Given the description of an element on the screen output the (x, y) to click on. 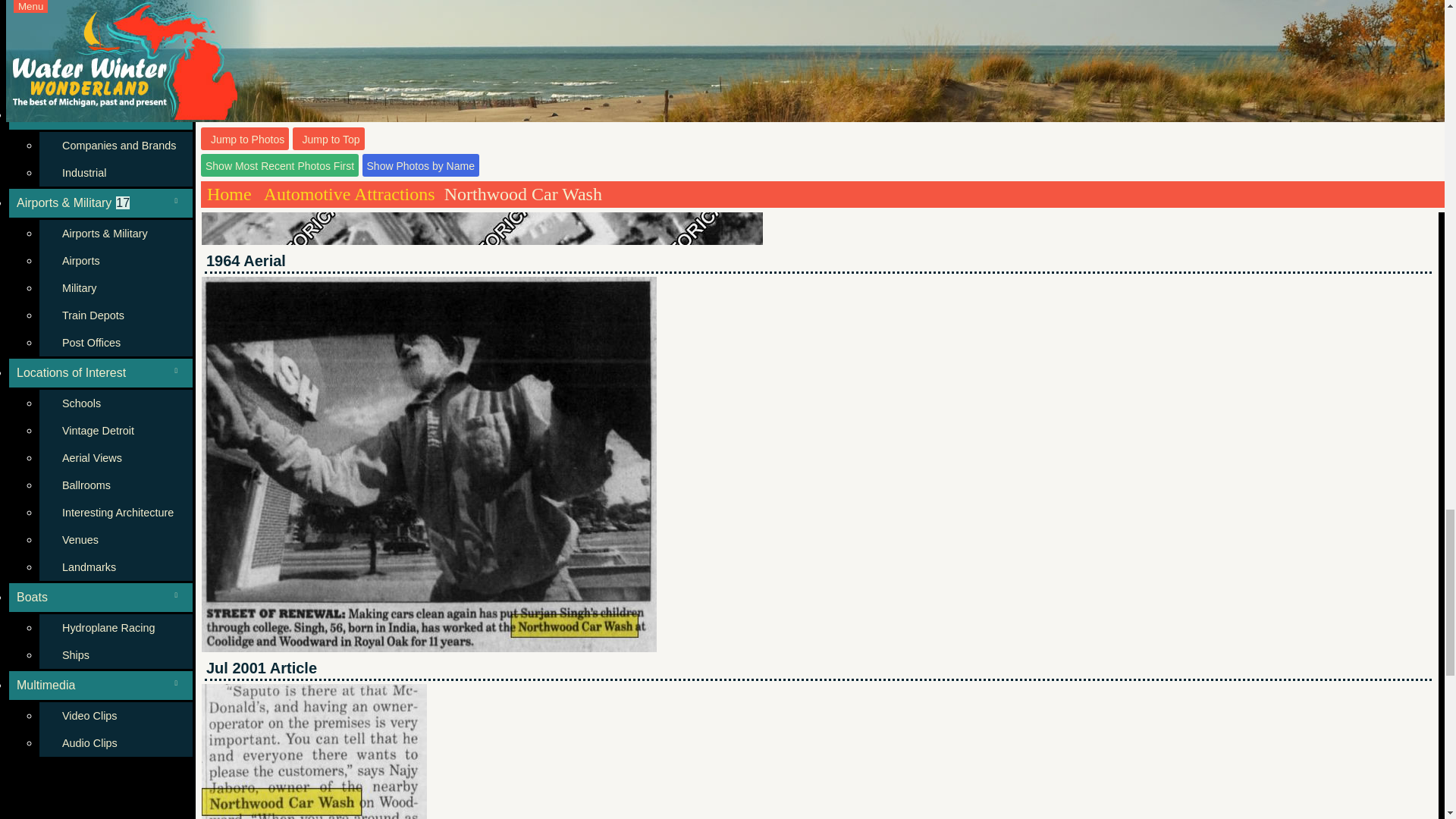
Northwood Car Wash - Apr 1999 Article Mentioning Owner (314, 751)
